Given the description of an element on the screen output the (x, y) to click on. 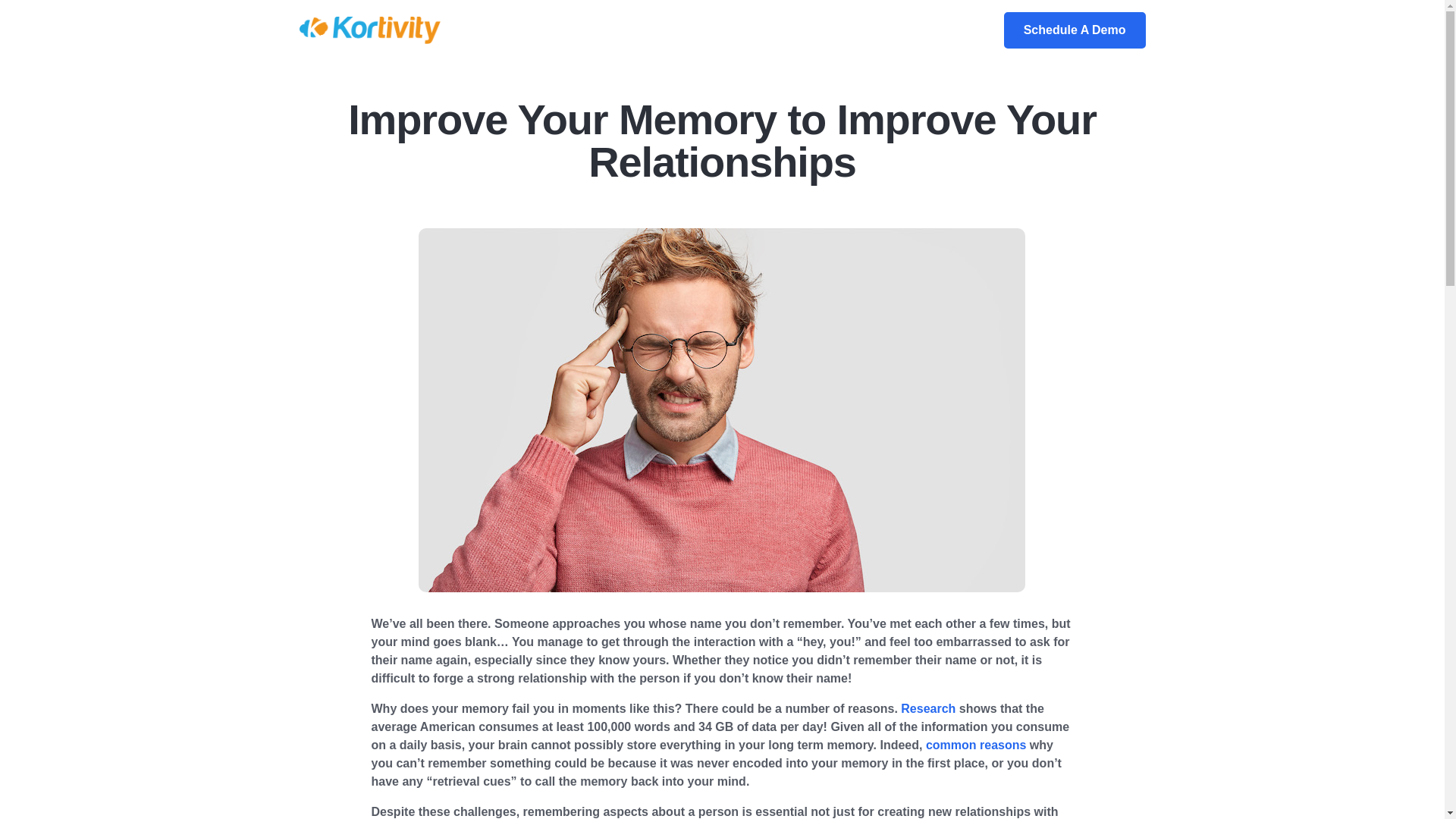
Research (928, 707)
Schedule A Demo (1074, 30)
common reasons (976, 744)
